Given the description of an element on the screen output the (x, y) to click on. 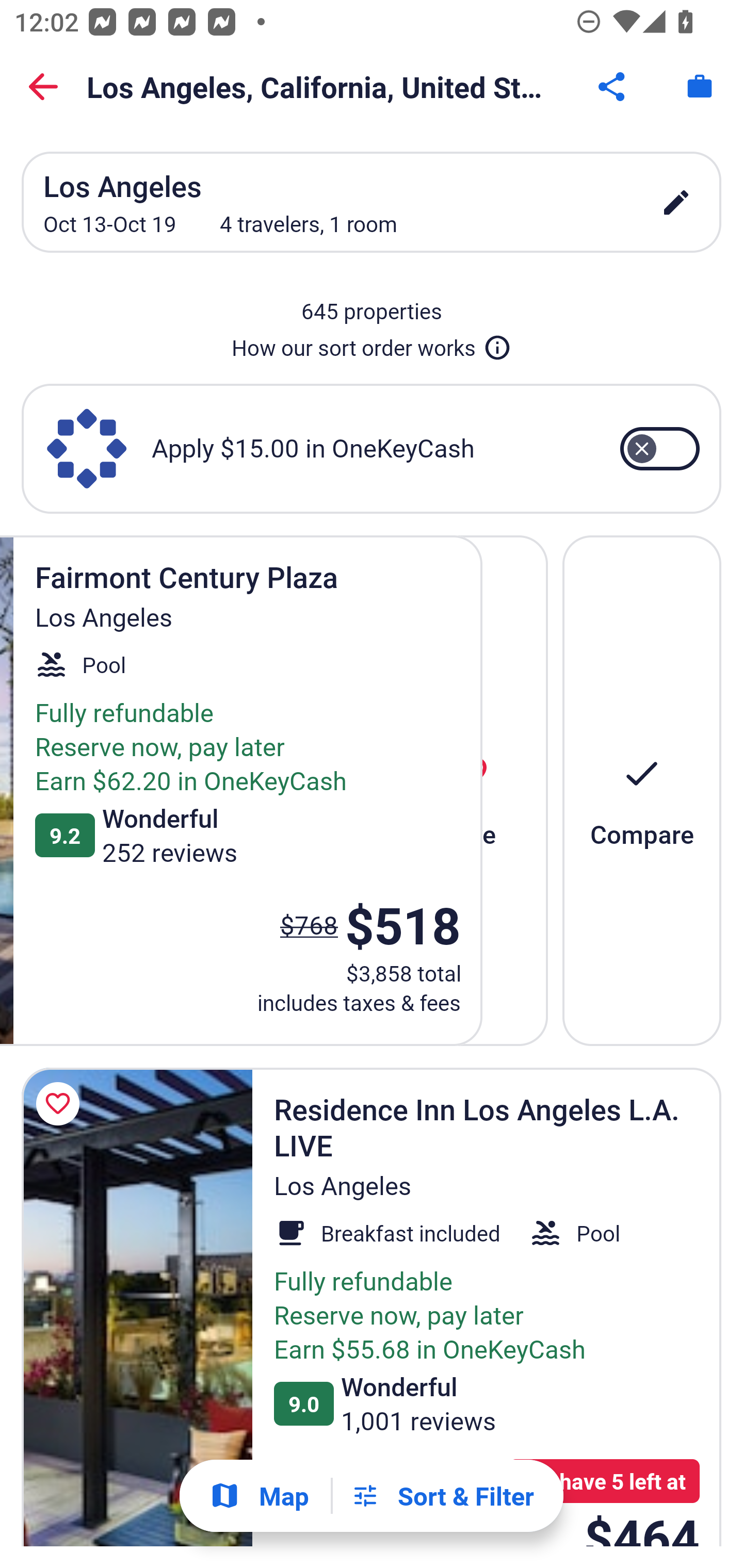
Back (43, 86)
Share Button (612, 86)
Trips. Button (699, 86)
Los Angeles Oct 13-Oct 19 4 travelers, 1 room edit (371, 202)
How our sort order works (371, 344)
Compare (641, 789)
$768 The price was $768 (308, 924)
Save Residence Inn Los Angeles L.A. LIVE to a trip (61, 1103)
Residence Inn Los Angeles L.A. LIVE (136, 1306)
Filters Sort & Filter Filters Button (442, 1495)
Show map Map Show map Button (258, 1495)
